Given the description of an element on the screen output the (x, y) to click on. 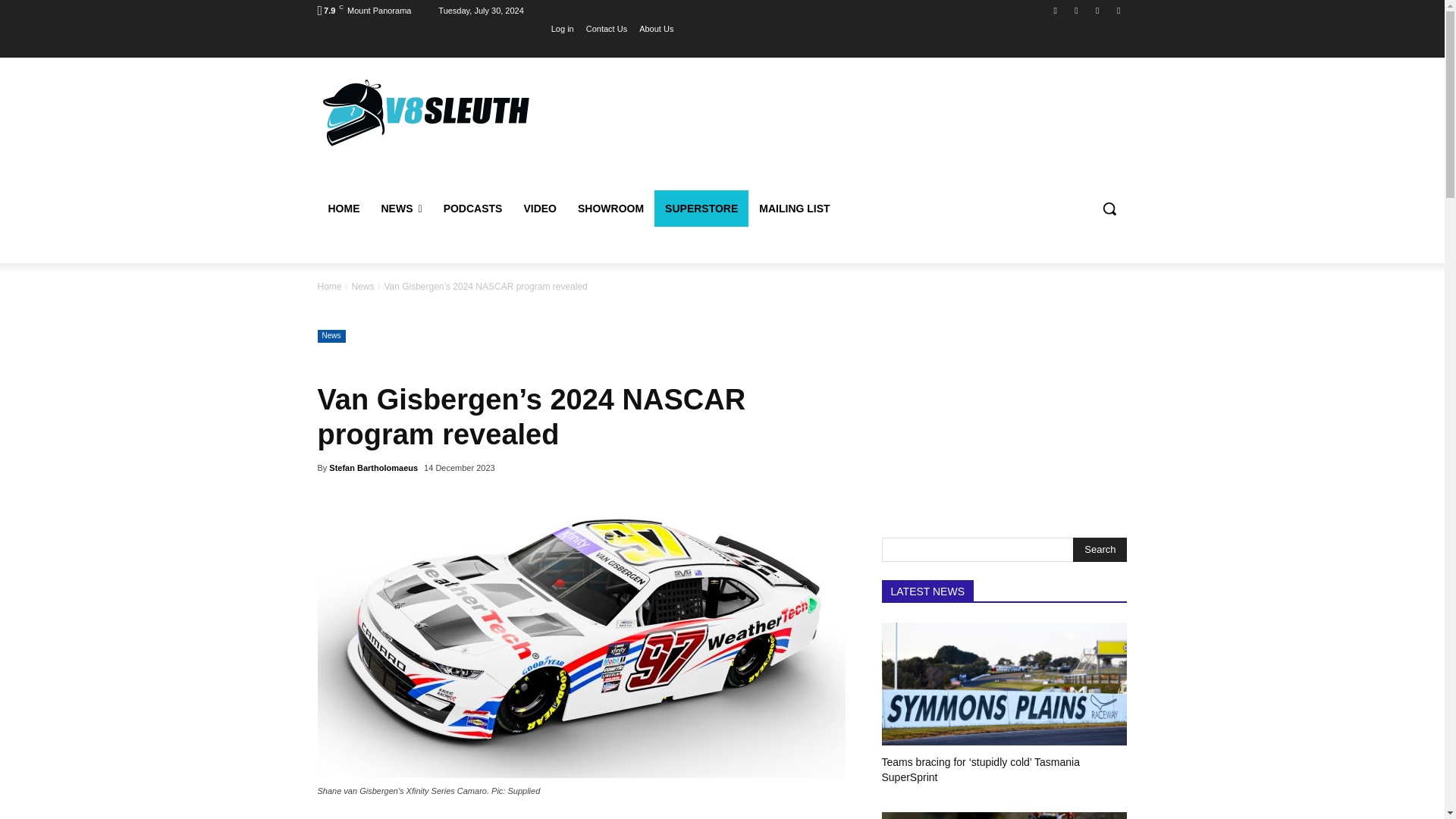
NEWS (400, 208)
About Us (655, 28)
Contact Us (606, 28)
Twitter (1097, 9)
Log in (562, 28)
Youtube (1117, 9)
Instagram (1075, 9)
Facebook (1055, 9)
HOME (343, 208)
